Given the description of an element on the screen output the (x, y) to click on. 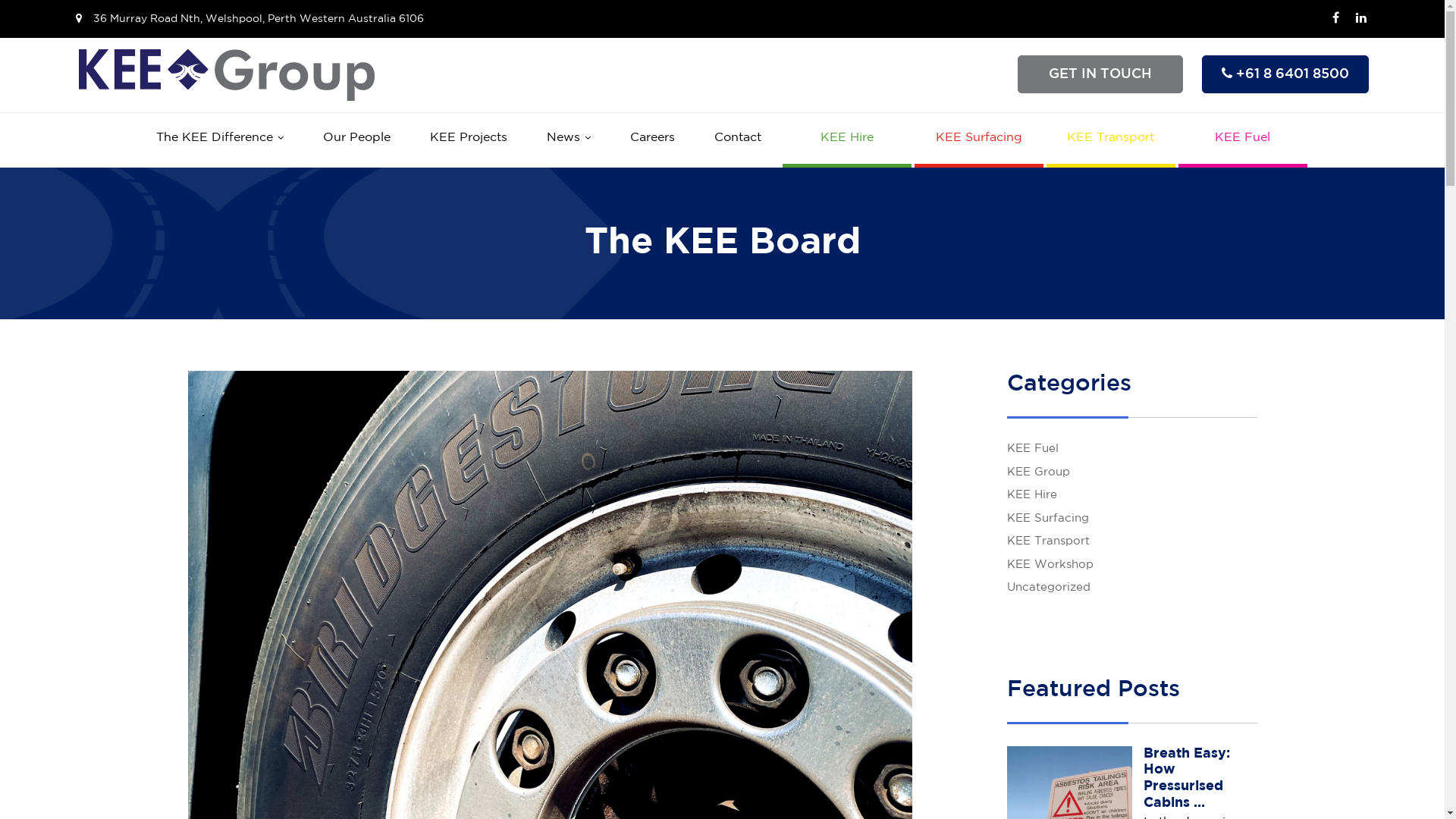
KEE Workshop Element type: text (1050, 564)
KEE Group Element type: text (1038, 471)
The KEE Difference Element type: text (219, 137)
KEE Fuel Element type: text (1242, 137)
Our People Element type: text (356, 137)
Contact Element type: text (737, 137)
LinkedIn Element type: hover (1360, 18)
Careers Element type: text (651, 137)
KEE Hire Element type: text (846, 137)
KEE Fuel Element type: text (1032, 448)
Uncategorized Element type: text (1048, 587)
KEE Surfacing Element type: text (1047, 518)
News Element type: text (567, 137)
KEE Projects Element type: text (467, 137)
Breath Easy: How Pressurised Cabins ... Element type: text (1186, 778)
GET IN TOUCH Element type: text (1100, 74)
KEE Hire Element type: text (1032, 494)
Facebook Element type: hover (1335, 18)
KEE Surfacing Element type: text (978, 137)
KEE Transport Element type: text (1110, 137)
KEE Transport Element type: text (1048, 541)
+61 8 6401 8500 Element type: text (1284, 74)
